Given the description of an element on the screen output the (x, y) to click on. 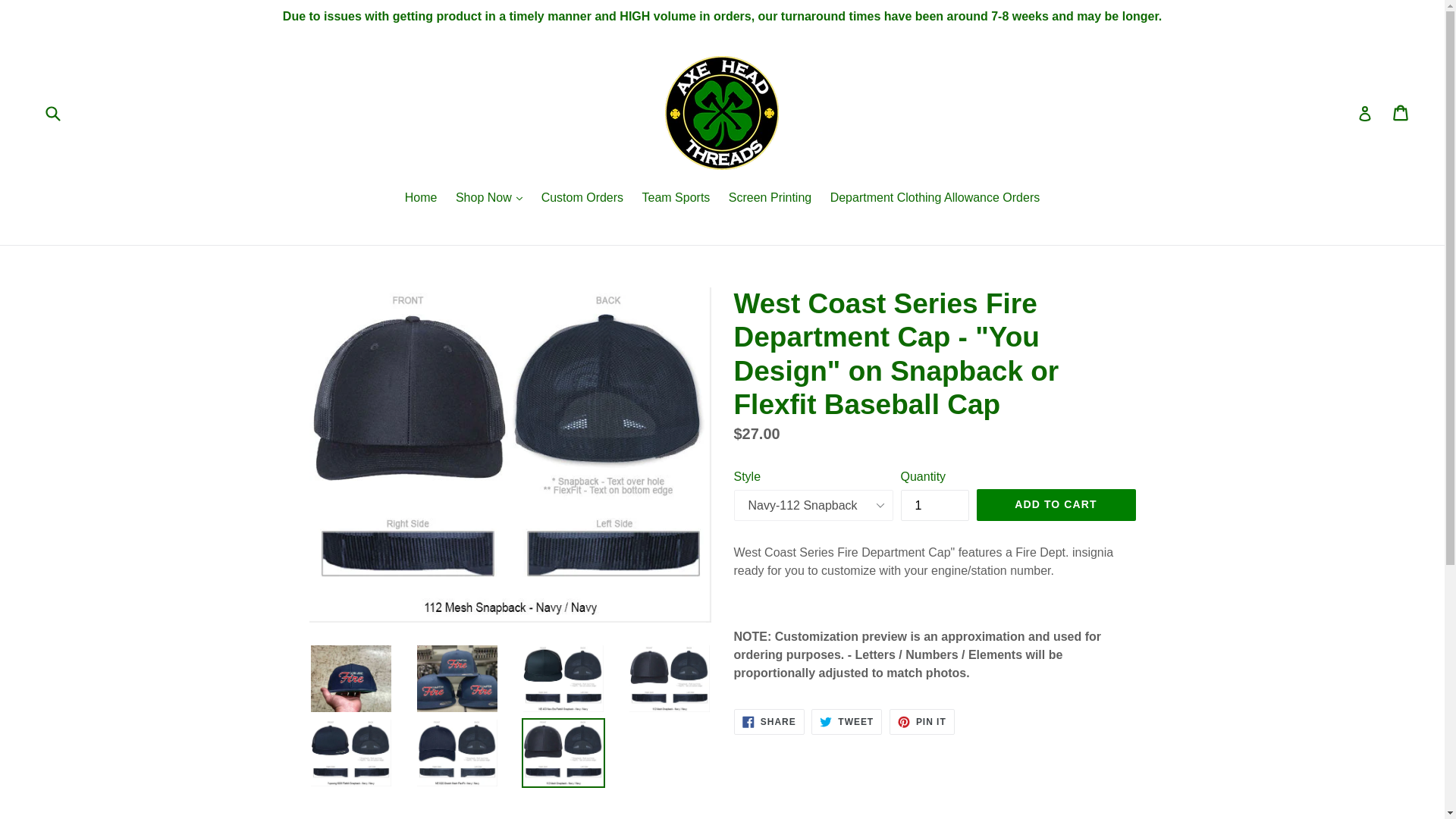
1 (935, 504)
Tweet on Twitter (846, 721)
Pin on Pinterest (922, 721)
Share on Facebook (769, 721)
Home (421, 199)
